Given the description of an element on the screen output the (x, y) to click on. 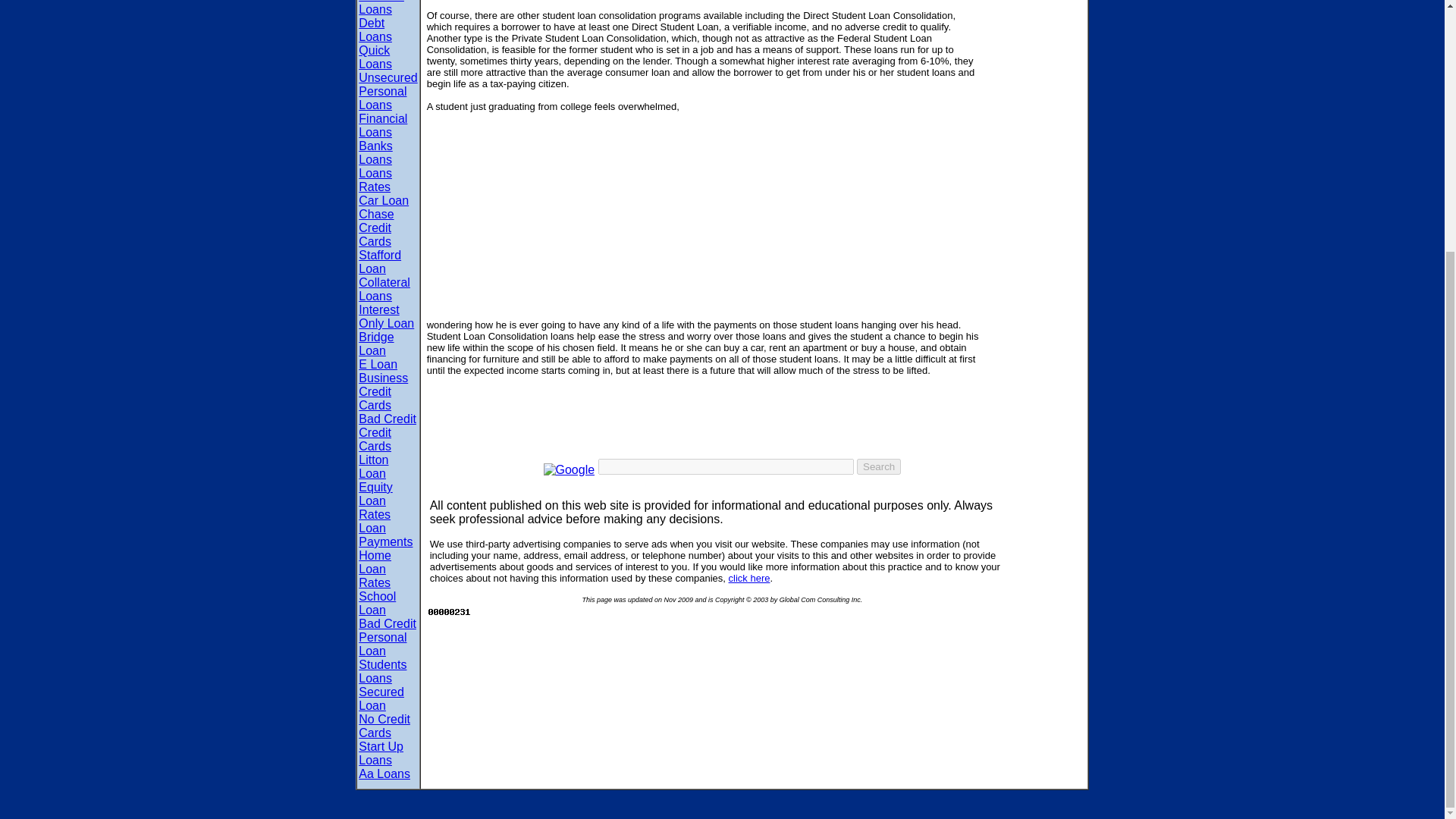
Start Up Loans (380, 753)
School Loan (377, 602)
No Credit Cards (384, 725)
Stafford Loan (379, 261)
Advertisement (702, 409)
Loan Payments (385, 534)
Interest Only Loan (385, 316)
Litton Loan (373, 466)
Secured Loans (381, 7)
Advertisement (702, 246)
